Given the description of an element on the screen output the (x, y) to click on. 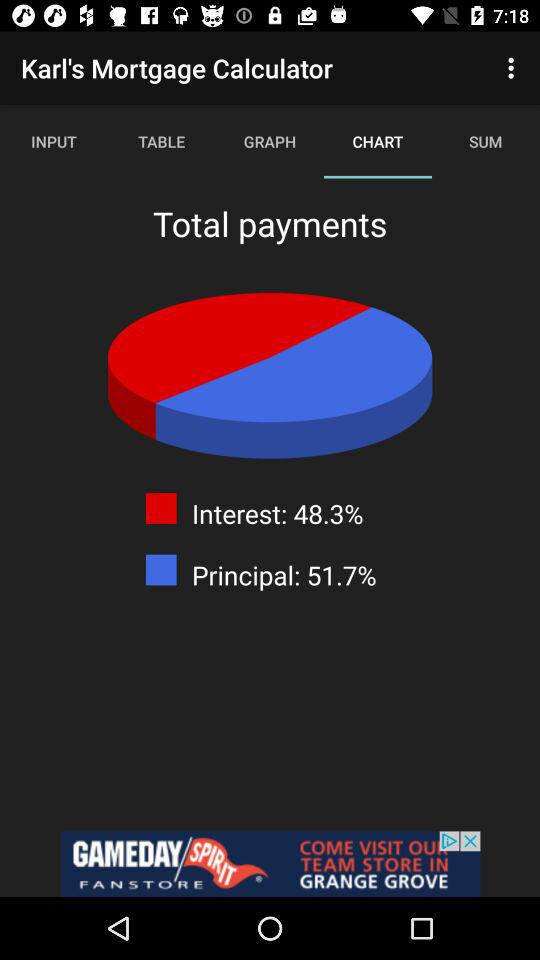
open advertisement (270, 864)
